Given the description of an element on the screen output the (x, y) to click on. 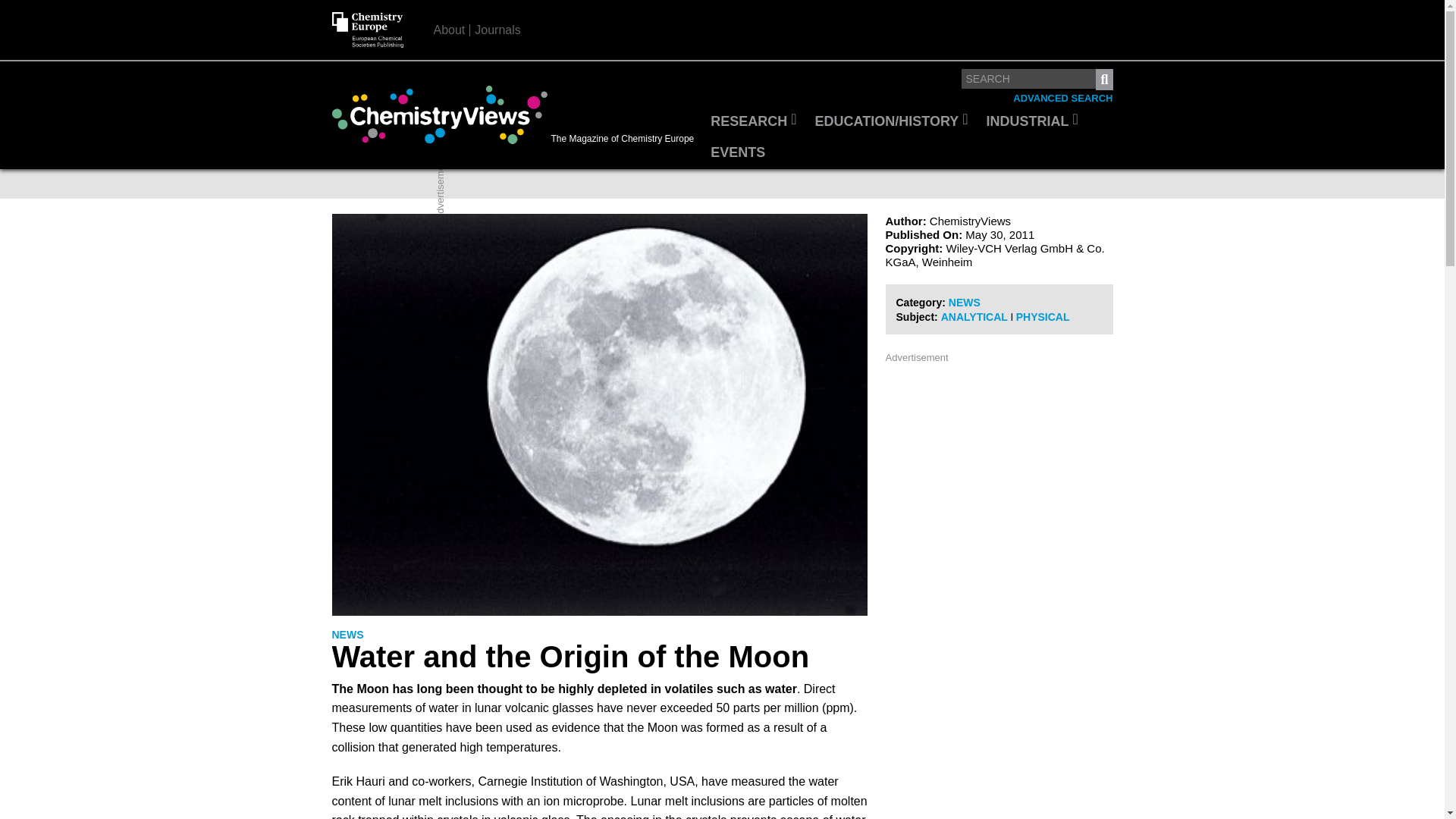
NEWS (347, 634)
INDUSTRIAL (1031, 122)
About (449, 29)
EVENTS (737, 152)
ADVANCED SEARCH (1062, 98)
The Magazine of Chemistry Europe (516, 114)
Journals (496, 29)
RESEARCH (753, 122)
